Given the description of an element on the screen output the (x, y) to click on. 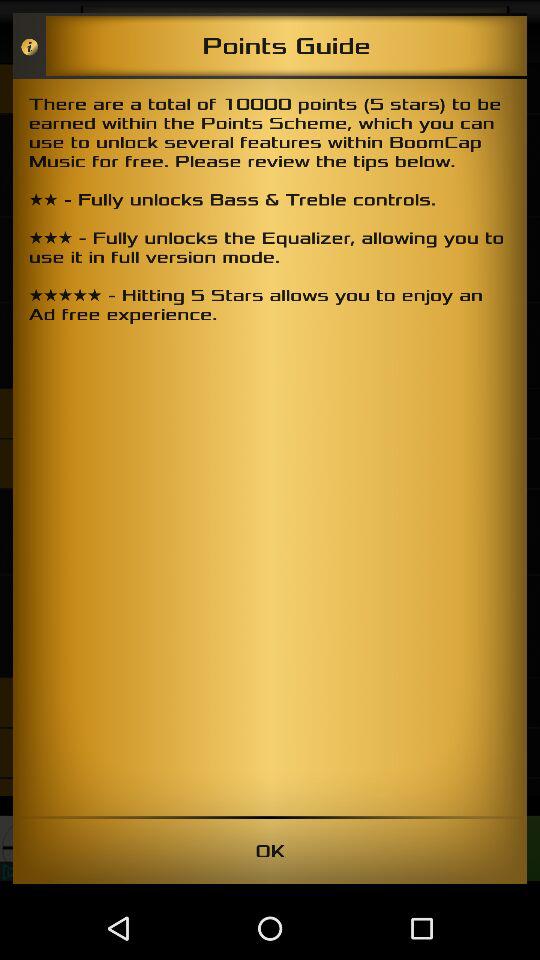
turn on the icon at the center (269, 447)
